Given the description of an element on the screen output the (x, y) to click on. 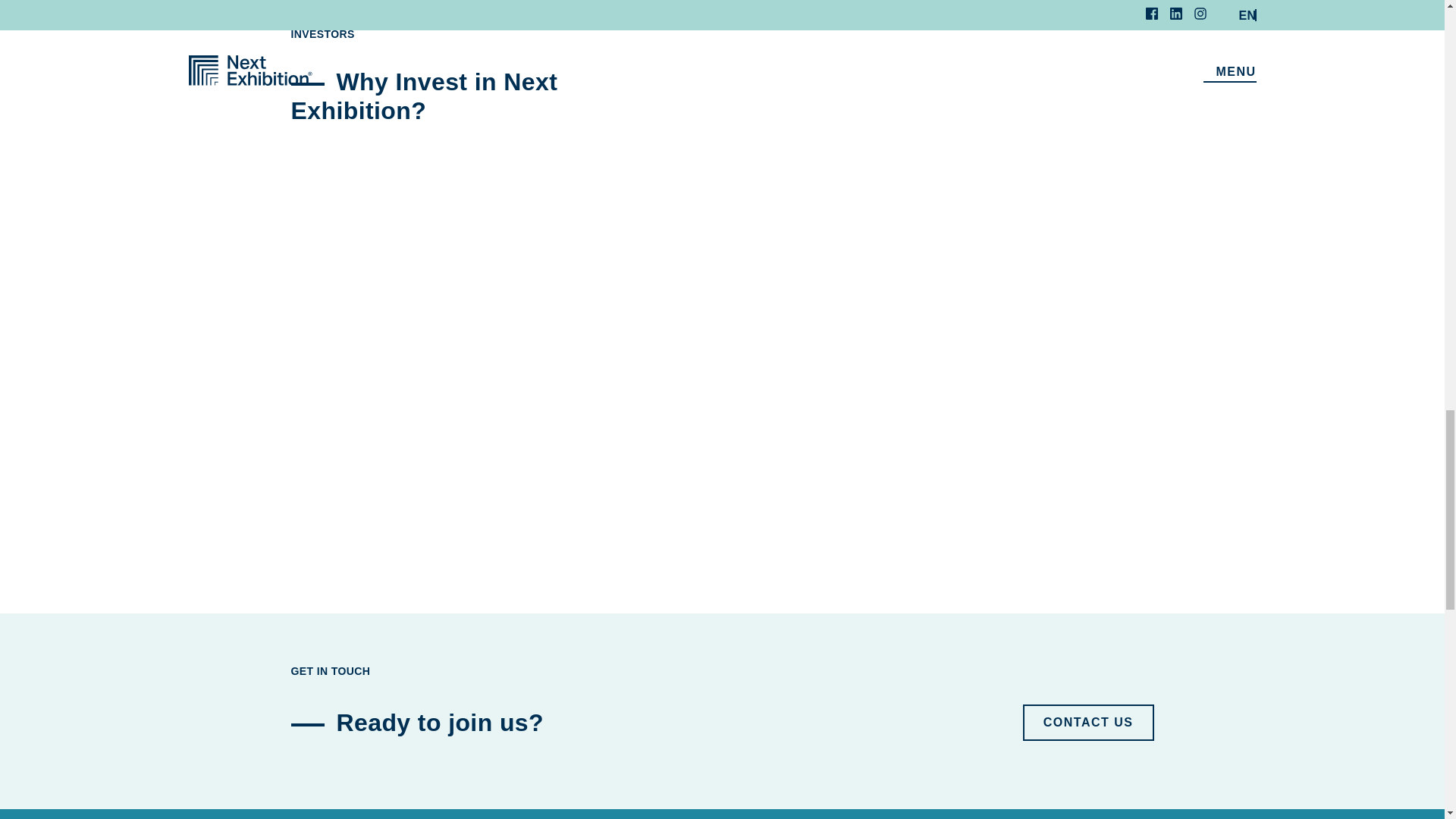
CONTACT US (1088, 722)
